Given the description of an element on the screen output the (x, y) to click on. 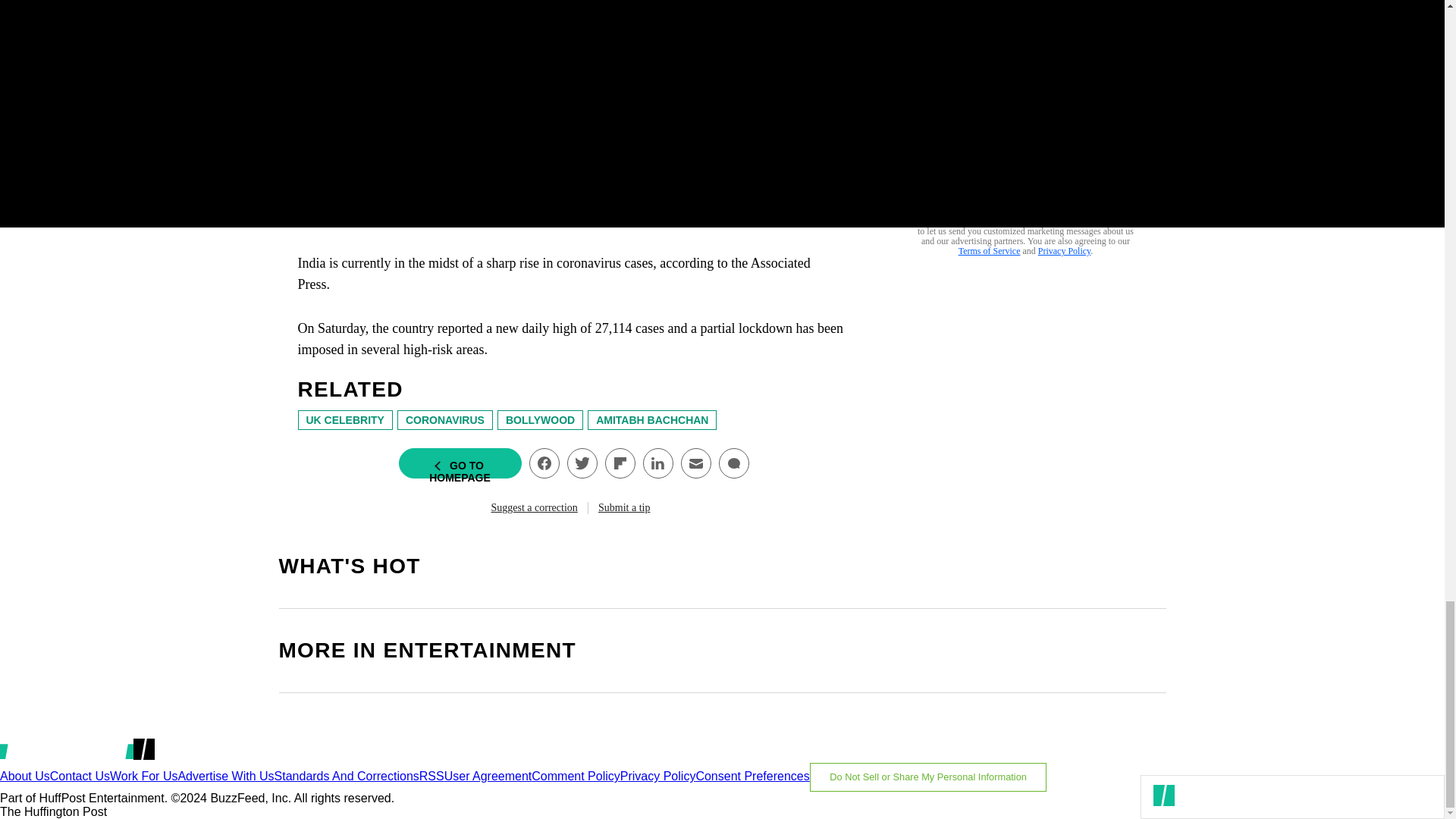
SIGN UP (1098, 190)
